Given the description of an element on the screen output the (x, y) to click on. 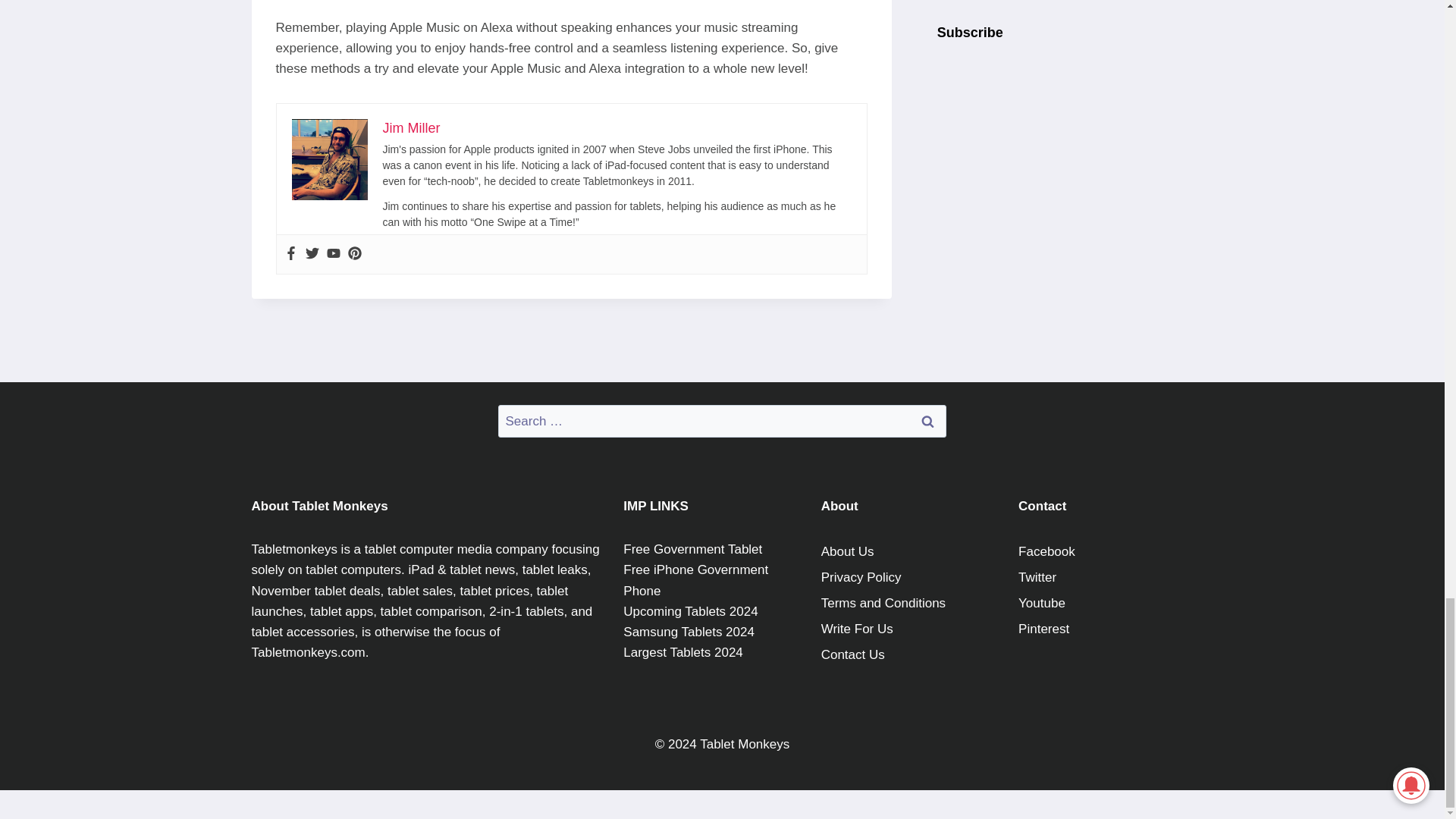
Search (927, 420)
Search (927, 420)
Jim Miller (410, 127)
